Given the description of an element on the screen output the (x, y) to click on. 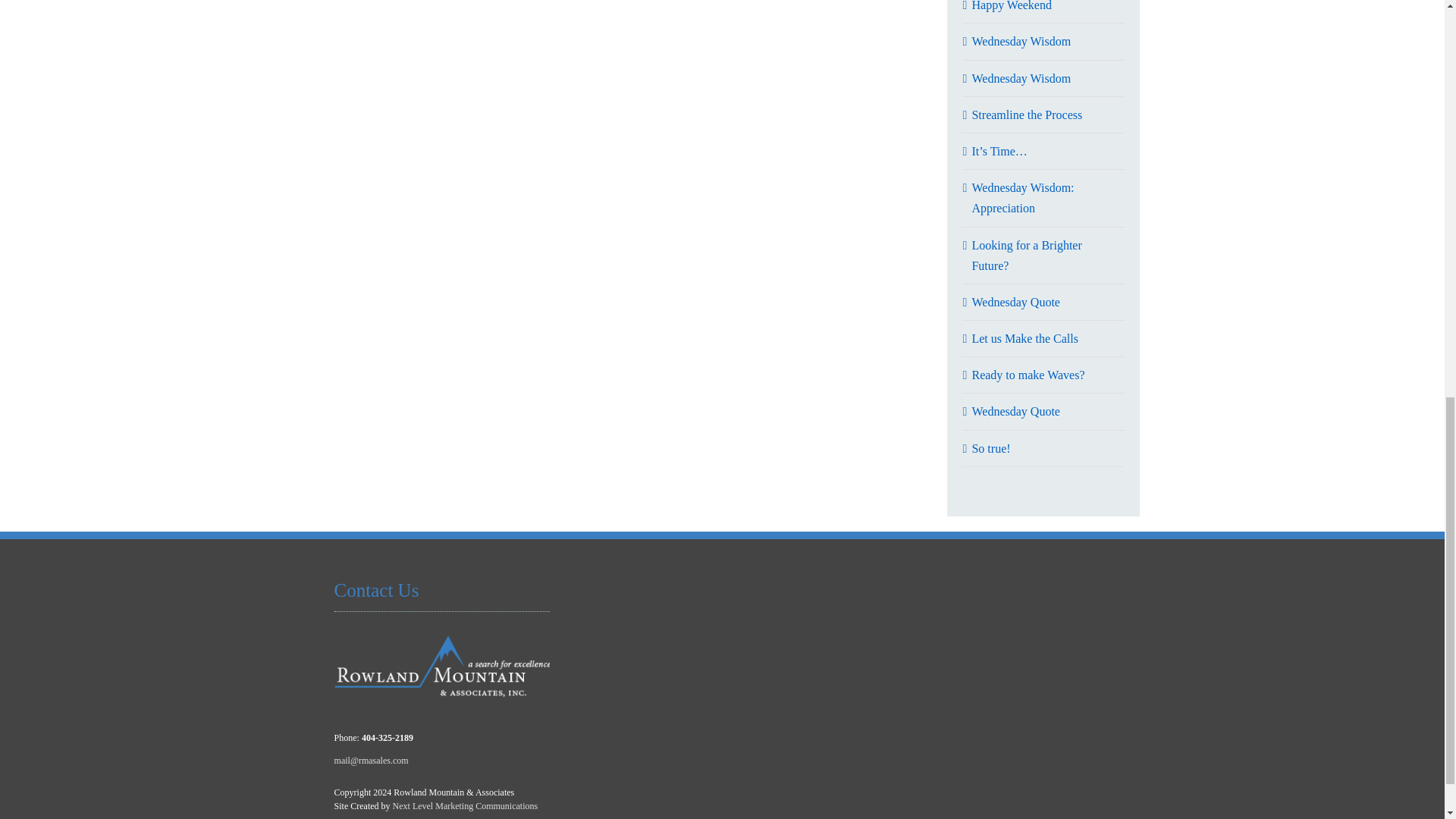
Wednesday Quote (1015, 301)
Wednesday Wisdom: Appreciation (1022, 197)
Let us Make the Calls (1024, 338)
Happy Weekend (1011, 5)
Streamline the Process (1026, 114)
Wednesday Wisdom (1020, 41)
Wednesday Wisdom (1020, 78)
Looking for a Brighter Future? (1026, 254)
Ready to make Waves? (1027, 374)
rma-LOGO-white (442, 667)
